Given the description of an element on the screen output the (x, y) to click on. 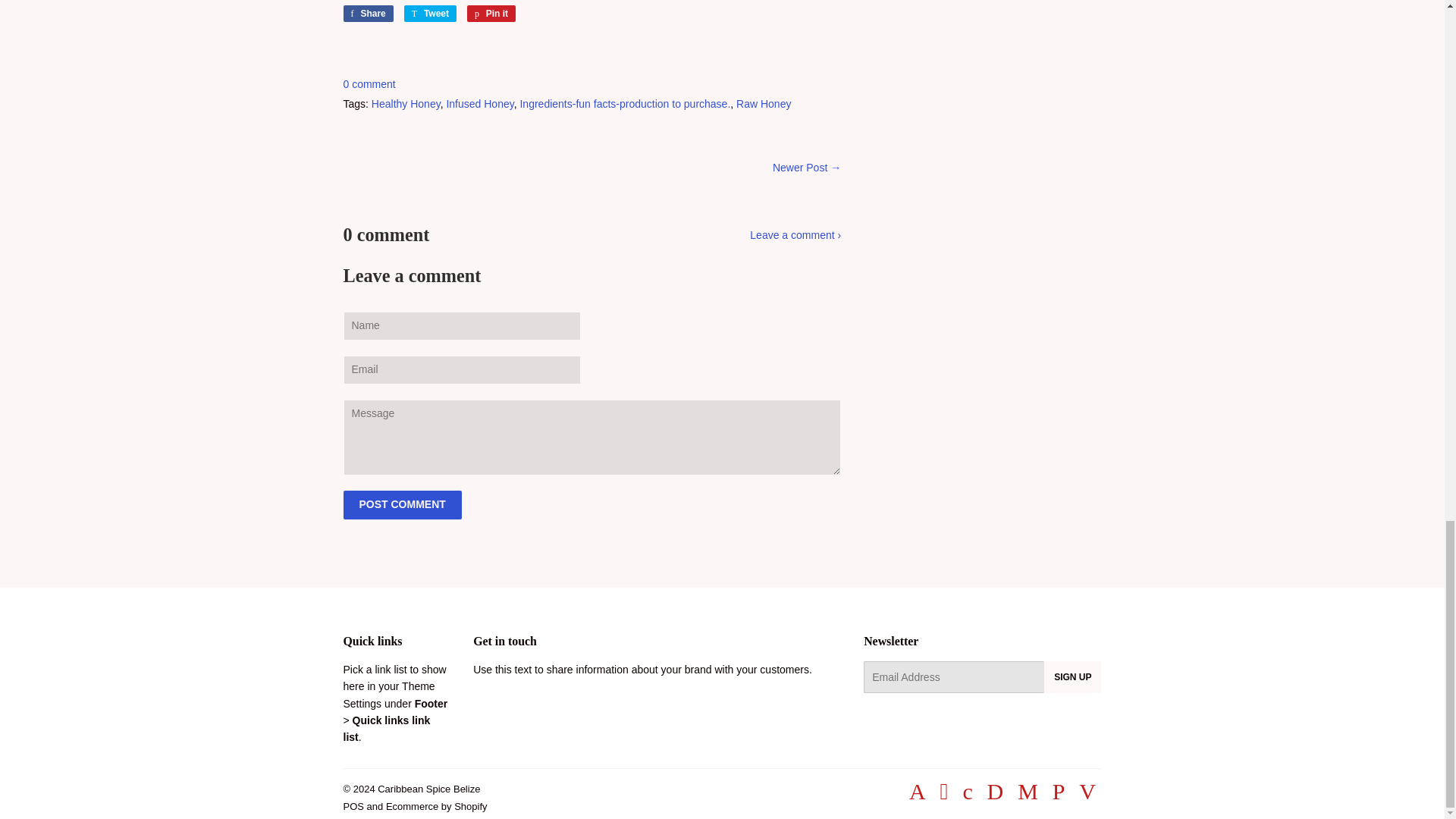
Post comment (401, 504)
Pin on Pinterest (491, 13)
Ingredients-fun facts-production to purchase. (430, 13)
Tweet on Twitter (624, 103)
Raw Honey (430, 13)
Share on Facebook (491, 13)
Post comment (763, 103)
